Given the description of an element on the screen output the (x, y) to click on. 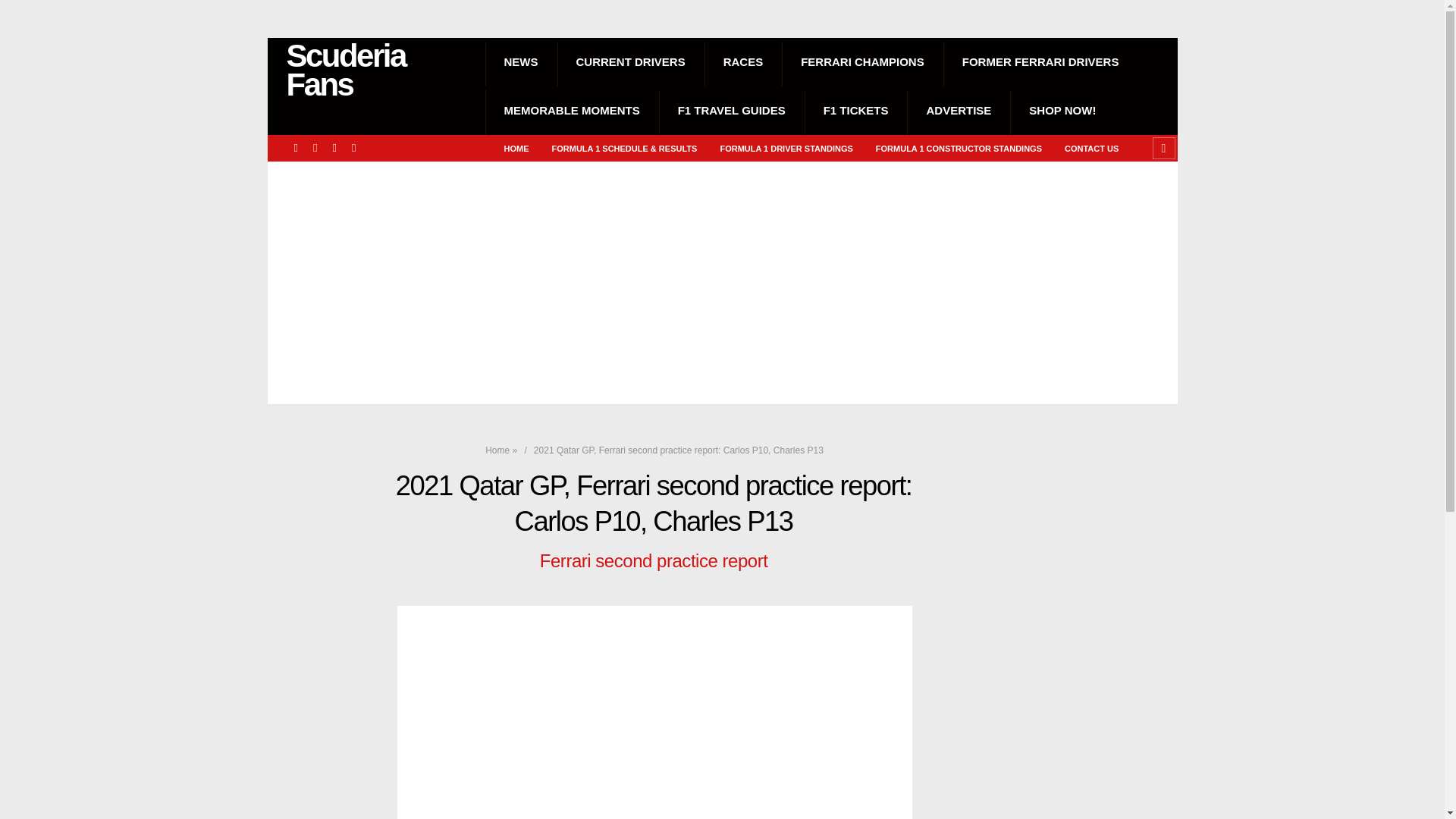
FERRARI CHAMPIONS (862, 61)
FORMER FERRARI DRIVERS (1040, 61)
Twitter (333, 148)
RACES (743, 61)
CURRENT DRIVERS (629, 61)
Youtube (352, 148)
Facebook (295, 148)
Instagram (314, 148)
NEWS (520, 61)
Scuderia Fans (377, 70)
